Given the description of an element on the screen output the (x, y) to click on. 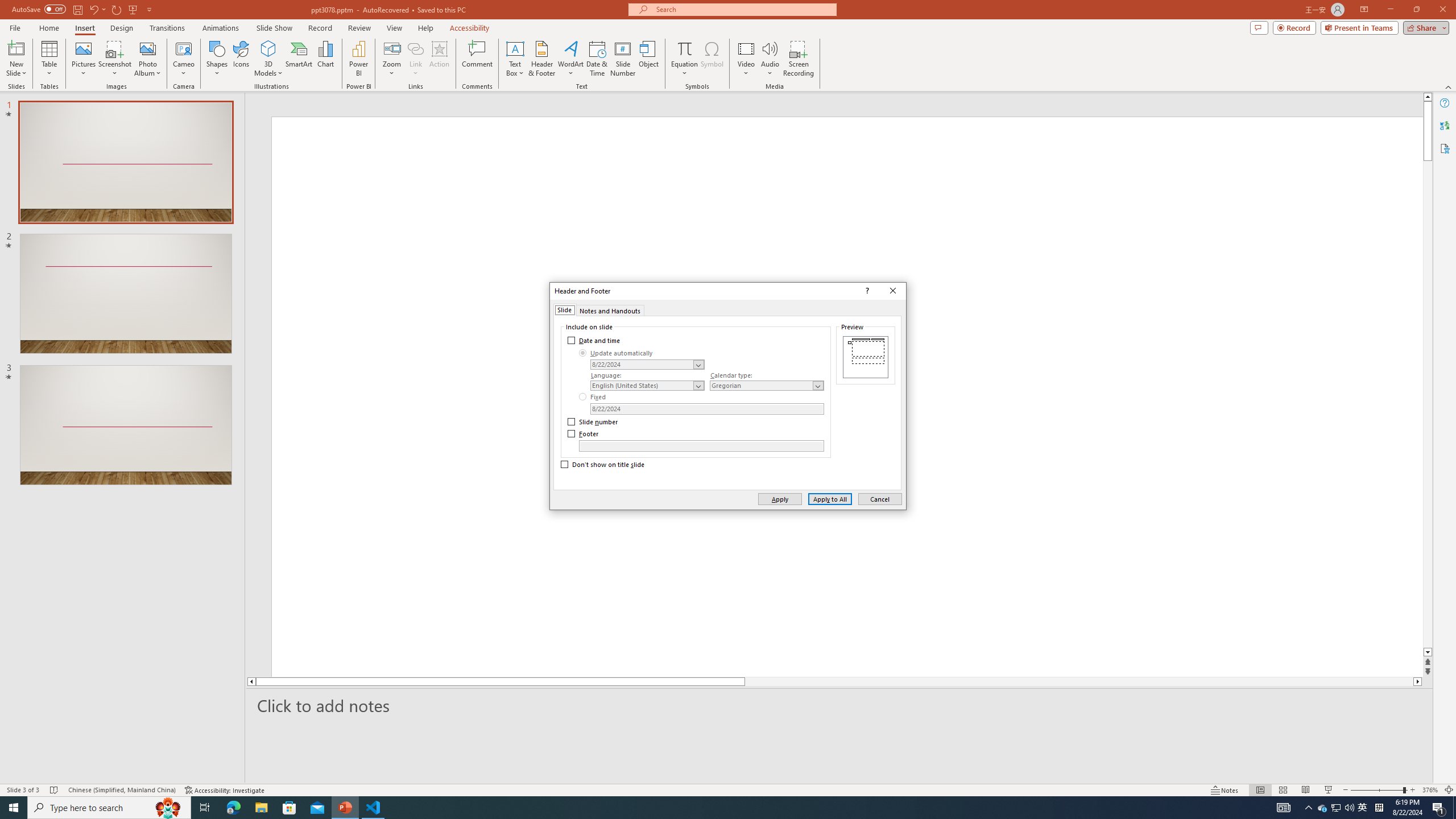
Date & Time... (596, 58)
Language (646, 385)
Don't show on title slide (602, 464)
Icons (240, 58)
